Given the description of an element on the screen output the (x, y) to click on. 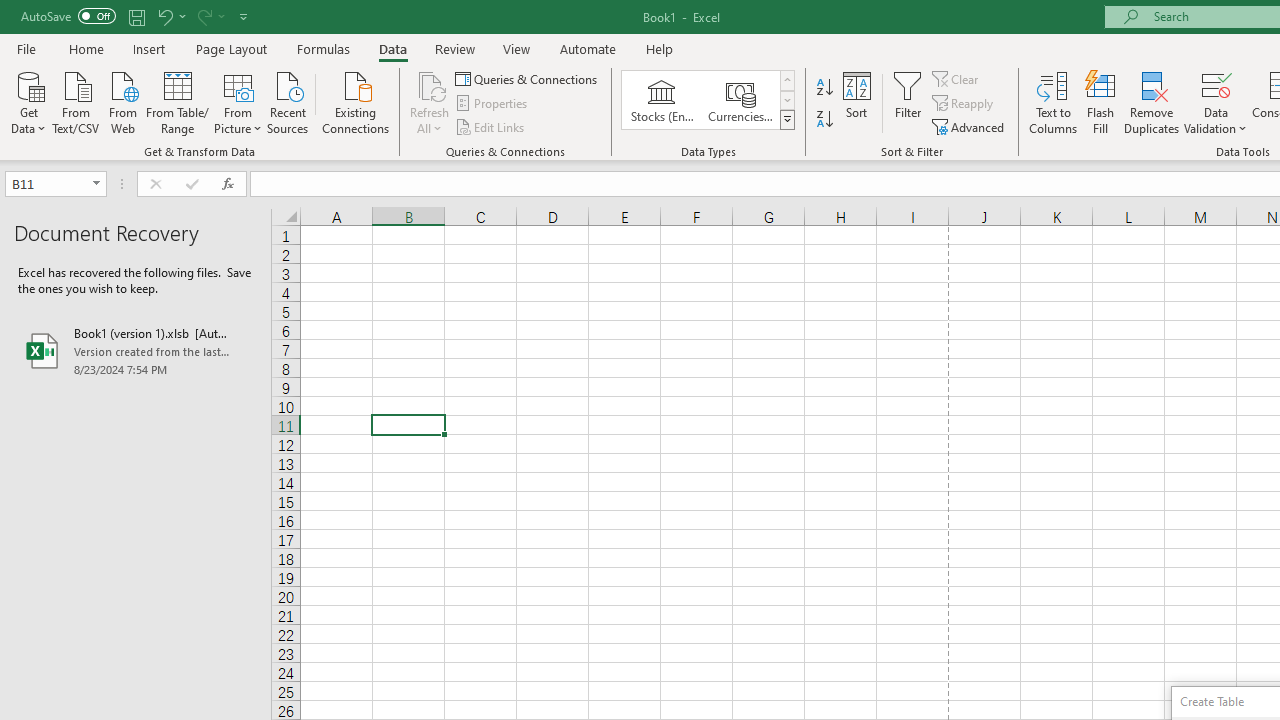
From Picture (238, 101)
Properties (492, 103)
Sort... (856, 102)
Book1 (version 1).xlsb  [AutoRecovered] (136, 350)
Reapply (964, 103)
Advanced... (970, 126)
Data Validation... (1215, 84)
Class: NetUIImage (787, 119)
